Given the description of an element on the screen output the (x, y) to click on. 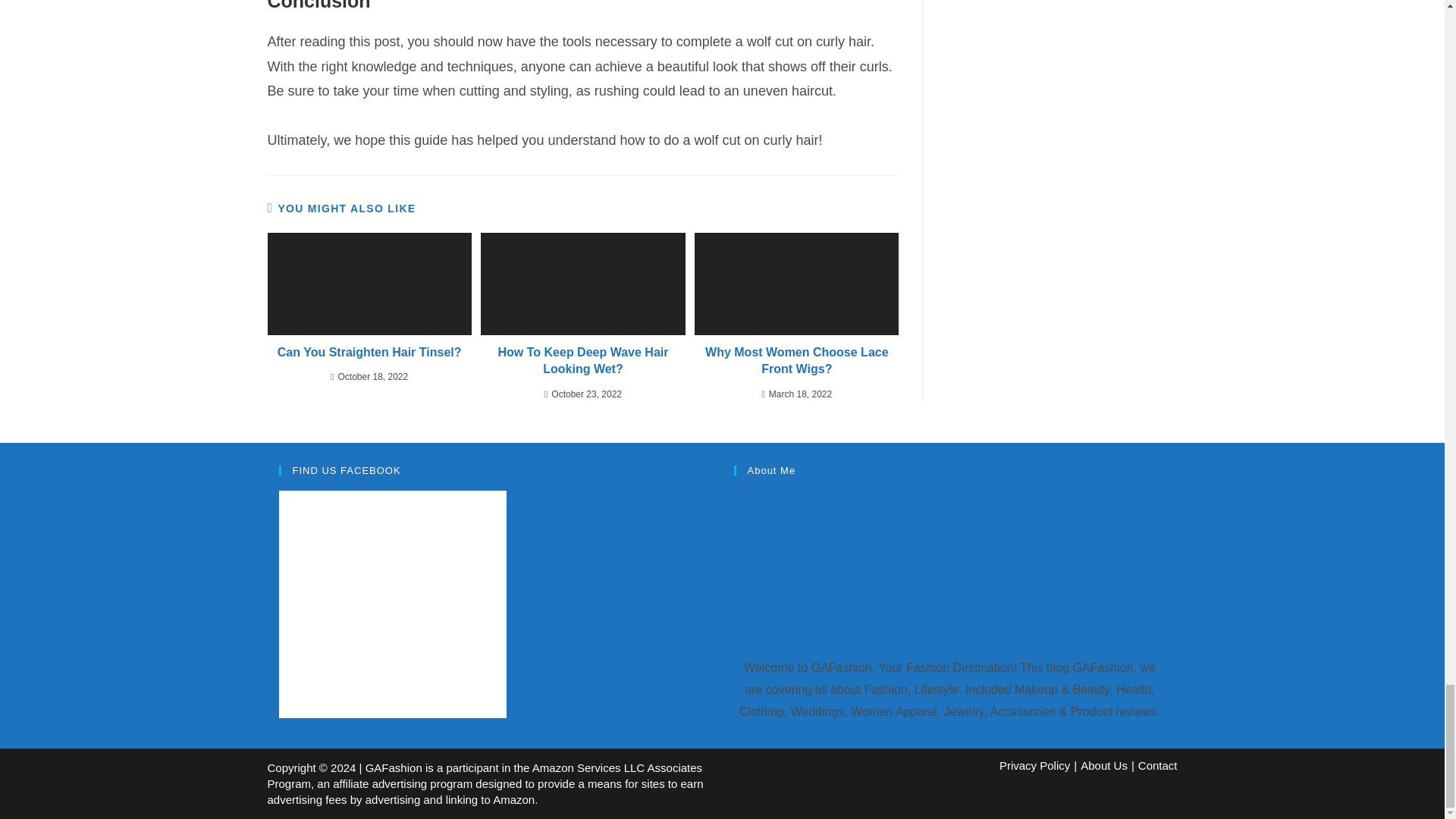
How To Keep Deep Wave Hair Looking Wet? (582, 360)
Why Most Women Choose Lace Front Wigs? (796, 360)
Can You Straighten Hair Tinsel? (368, 352)
